Given the description of an element on the screen output the (x, y) to click on. 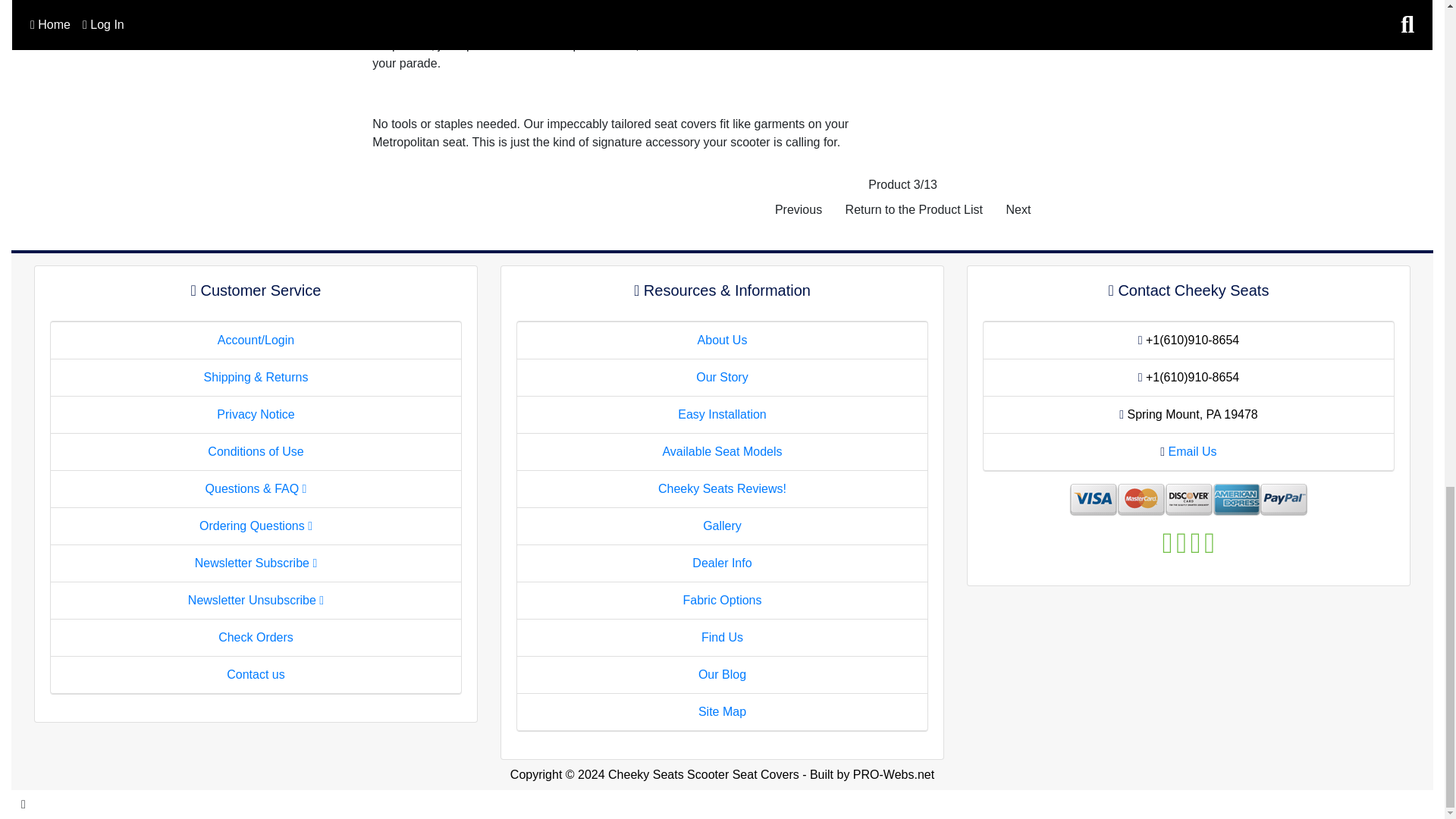
Conditions of Use (255, 451)
Ordering Questions (256, 525)
FAQ (256, 488)
Available Seat Models (721, 451)
Newsletter Unsubscribe (255, 599)
Easy Installation (722, 413)
About Us (722, 339)
Check Orders (256, 636)
Newsletter Subscribe (256, 562)
Our Story (721, 377)
Cheeky Seats Reviews! (722, 488)
Contact us (255, 674)
Privacy Notice (255, 413)
